Given the description of an element on the screen output the (x, y) to click on. 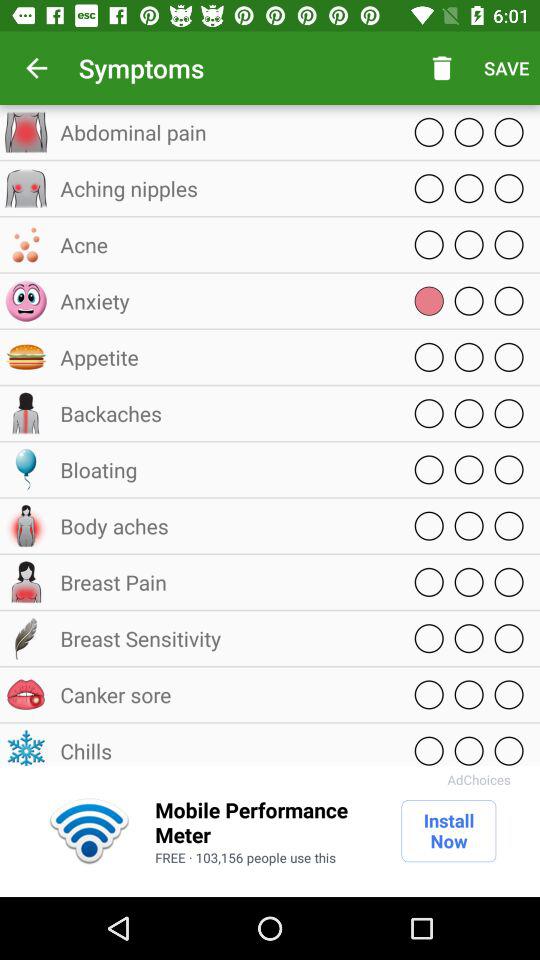
flip to adchoices item (478, 779)
